Given the description of an element on the screen output the (x, y) to click on. 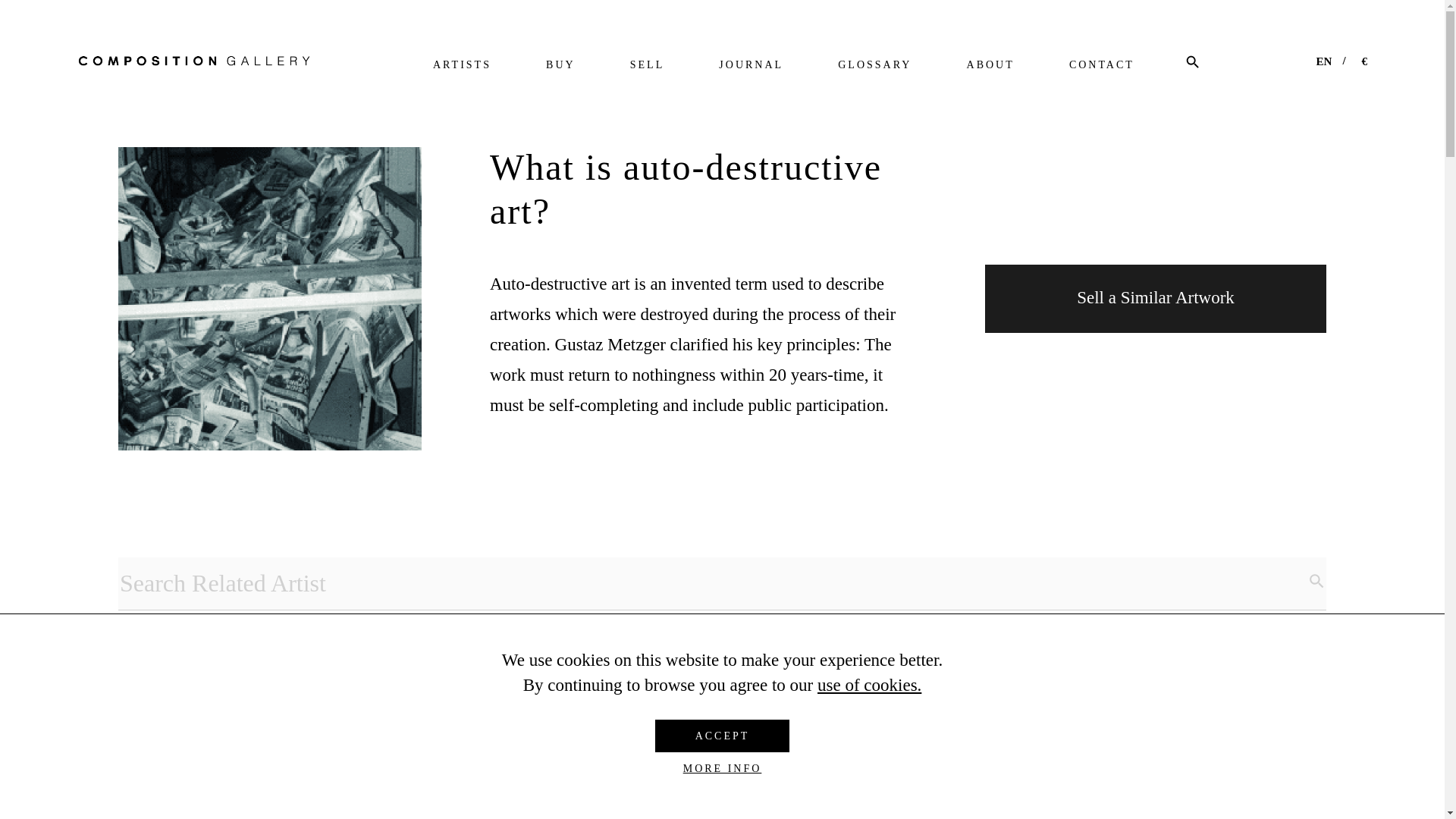
Sell a Similar Artwork (1155, 297)
CONTACT (1101, 62)
ARTISTS (462, 62)
ABOUT (990, 62)
GLOSSARY (873, 62)
What is auto-destructive art? (269, 298)
JOURNAL (750, 62)
BUY (560, 62)
Klein, Yves (381, 744)
SELL (647, 62)
